Given the description of an element on the screen output the (x, y) to click on. 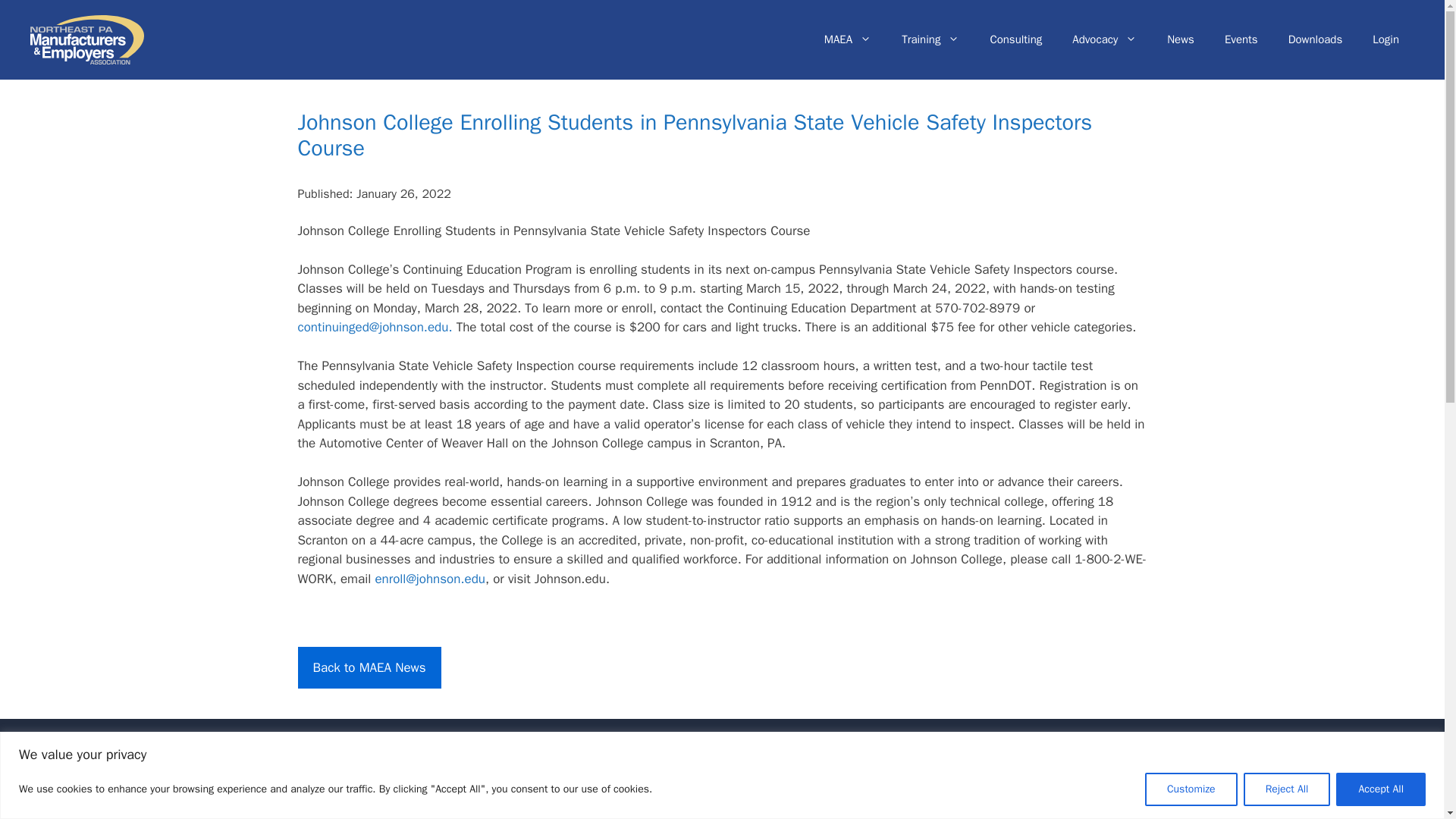
Customize (1190, 788)
Consulting (1015, 39)
Advocacy (1104, 39)
Reject All (1286, 788)
Training (930, 39)
Accept All (1380, 788)
MAEA (847, 39)
